Given the description of an element on the screen output the (x, y) to click on. 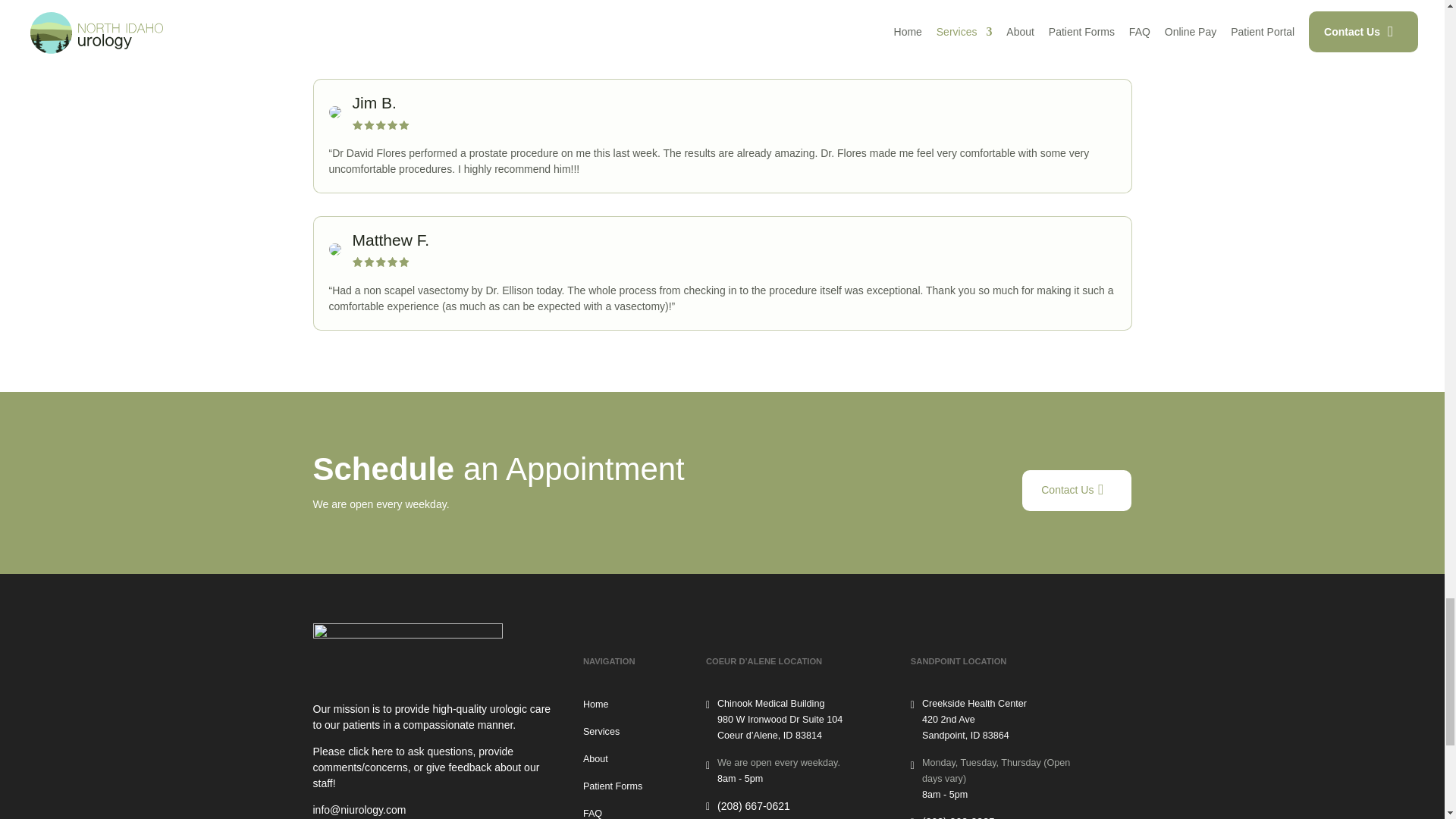
FAQ (592, 813)
About (595, 759)
Contact Us (1076, 490)
Services (601, 732)
Patient Forms (612, 786)
Home (595, 704)
